Given the description of an element on the screen output the (x, y) to click on. 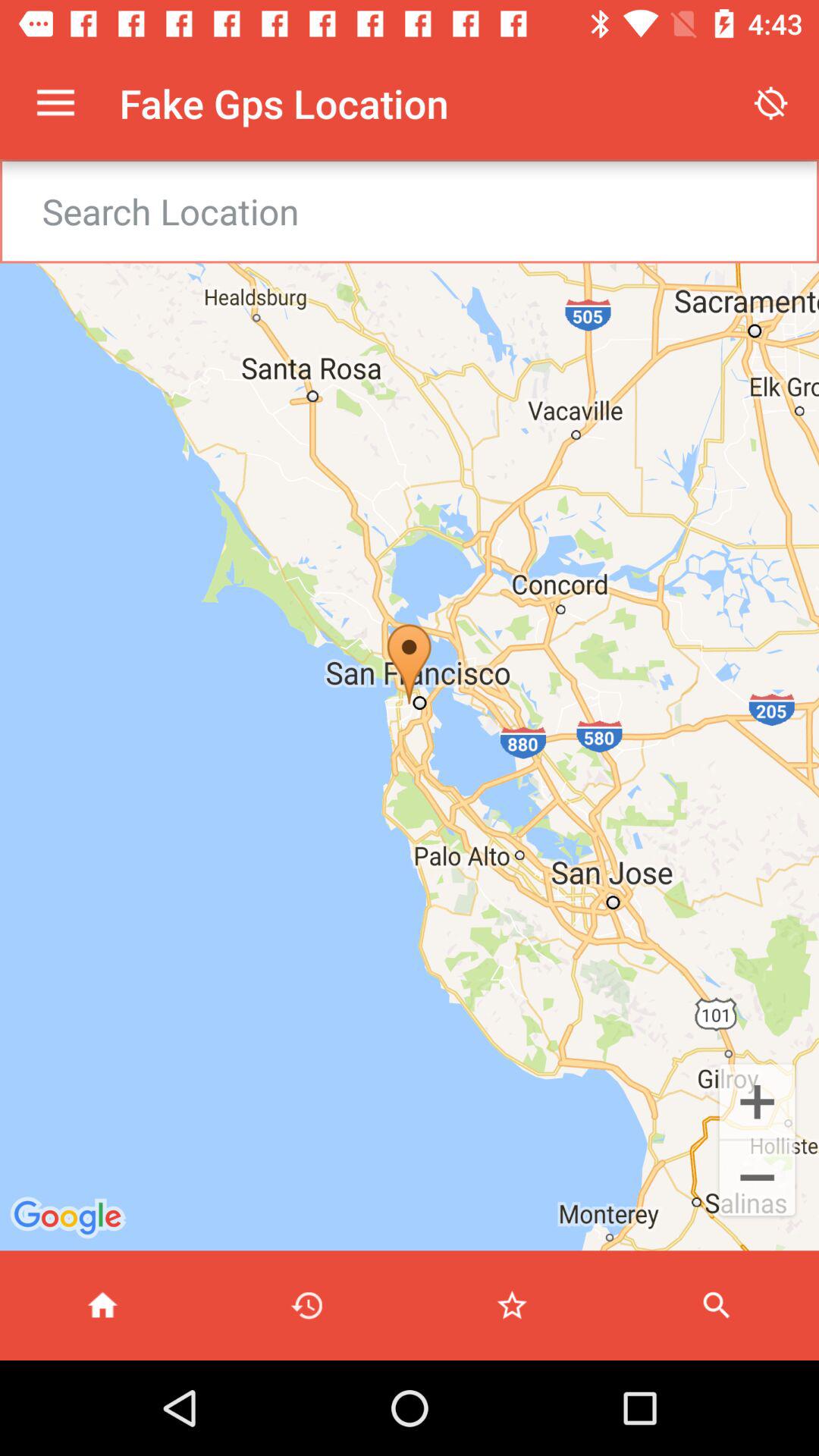
choose item next to fake gps location item (55, 103)
